Given the description of an element on the screen output the (x, y) to click on. 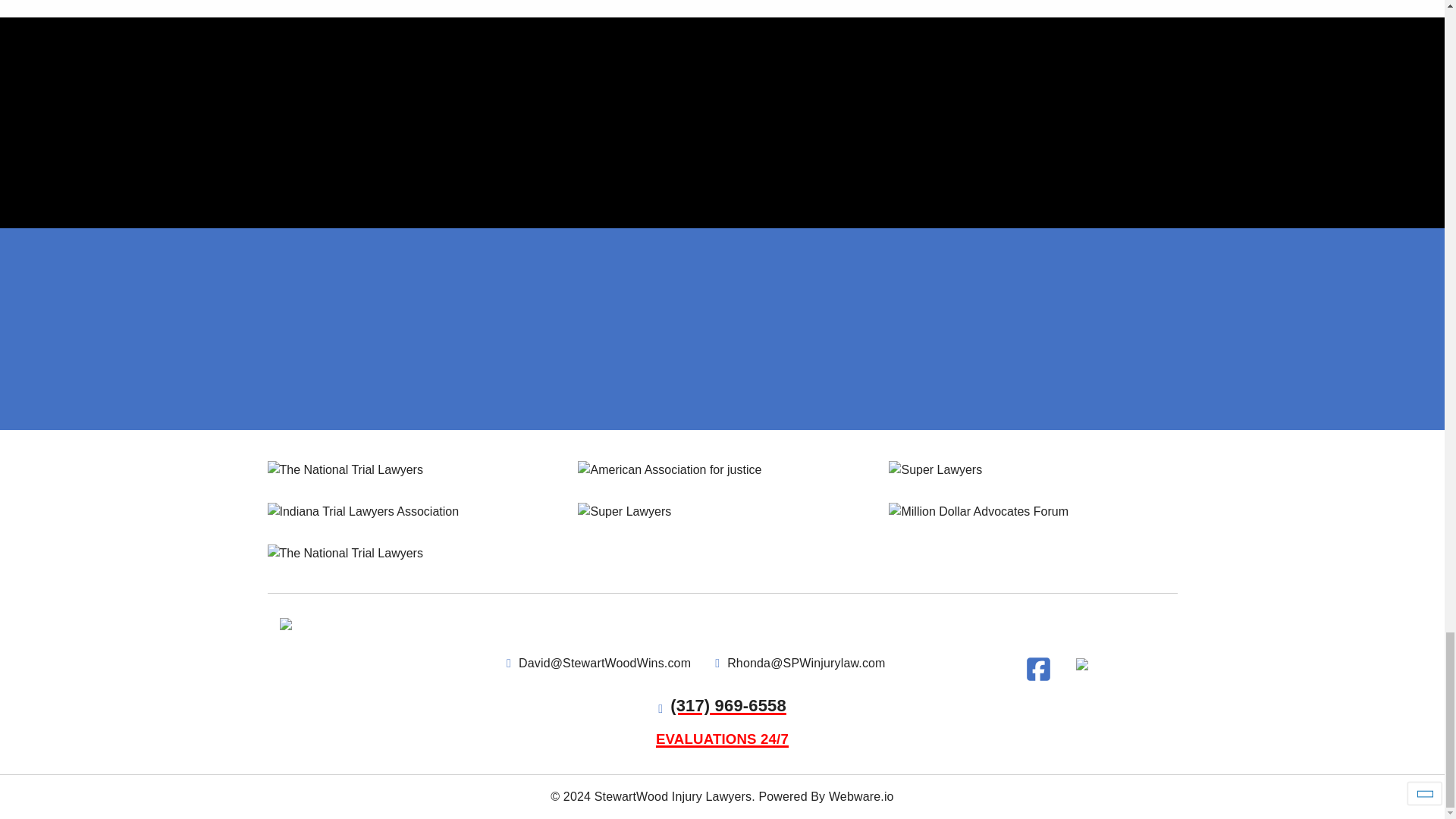
Subscribe (1109, 246)
